Given the description of an element on the screen output the (x, y) to click on. 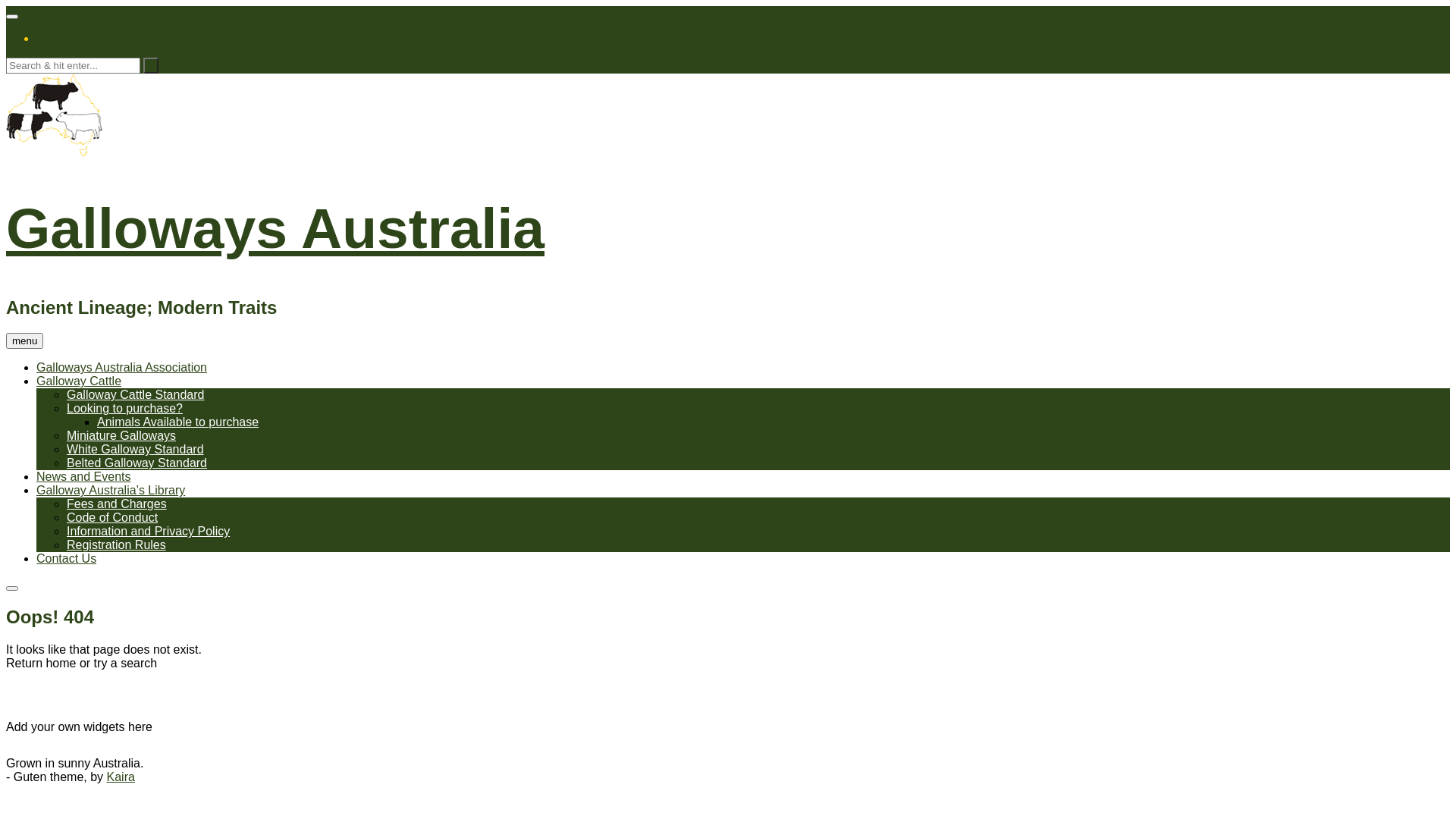
Kaira Element type: text (120, 776)
Animals Available to purchase Element type: text (177, 421)
Looking to purchase? Element type: text (124, 407)
Miniature Galloways Element type: text (120, 435)
Information and Privacy Policy Element type: text (147, 530)
White Galloway Standard Element type: text (134, 448)
Belted Galloway Standard Element type: text (136, 462)
Skip to content Element type: text (5, 5)
menu Element type: text (24, 340)
Galloways Australia Element type: text (275, 228)
News and Events Element type: text (83, 476)
Fees and Charges Element type: text (116, 503)
Looking to purchase? Element type: text (94, 37)
Galloway Cattle Standard Element type: text (134, 394)
Registration Rules Element type: text (116, 544)
Contact Us Element type: text (66, 558)
Galloways Australia Association Element type: text (121, 366)
Code of Conduct Element type: text (111, 517)
Galloway Cattle Element type: text (78, 380)
